Given the description of an element on the screen output the (x, y) to click on. 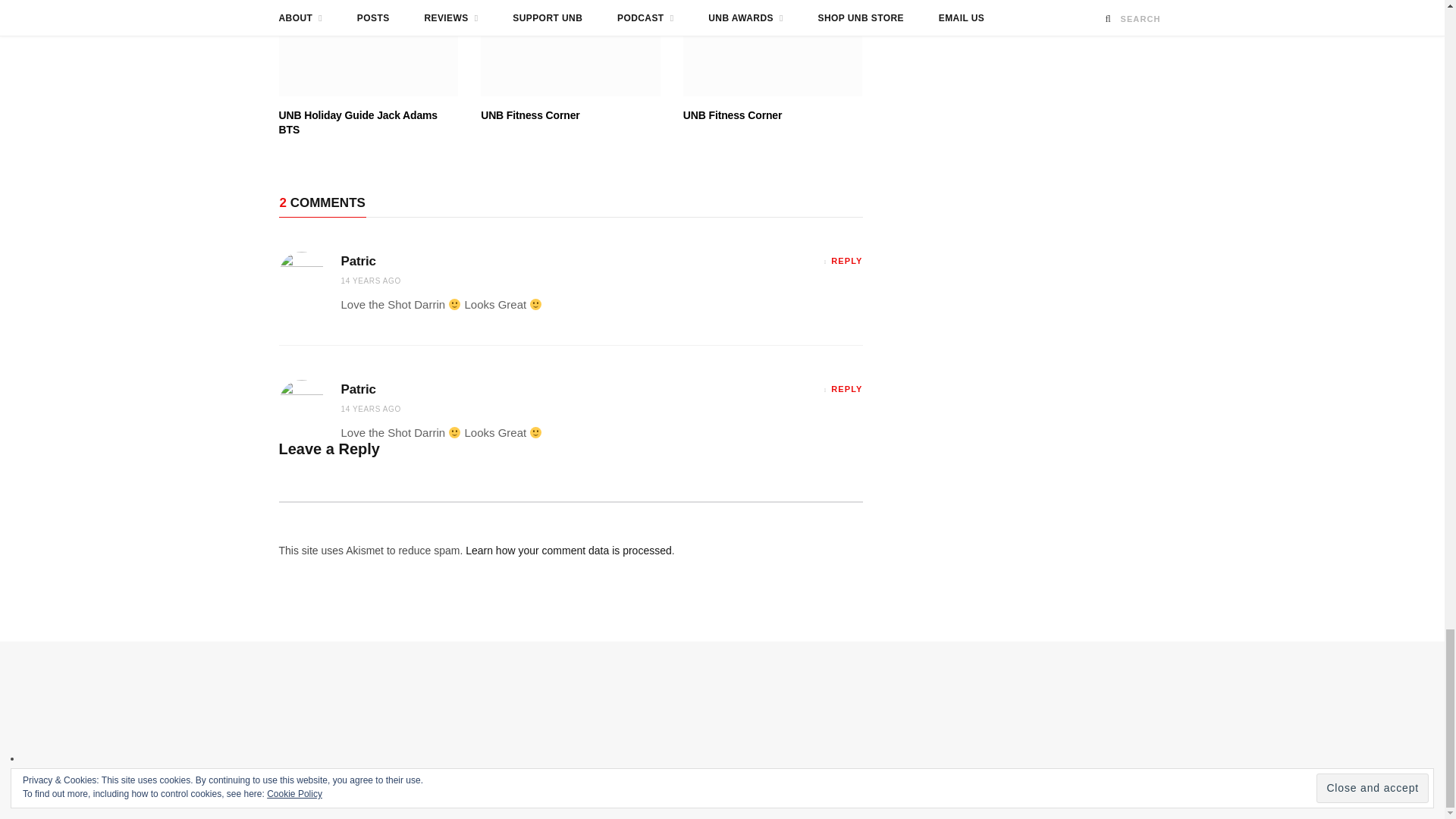
UNB Fitness Corner (570, 48)
UNB Holiday Guide Jack Adams BTS (368, 48)
UNB Fitness Corner (772, 48)
